Given the description of an element on the screen output the (x, y) to click on. 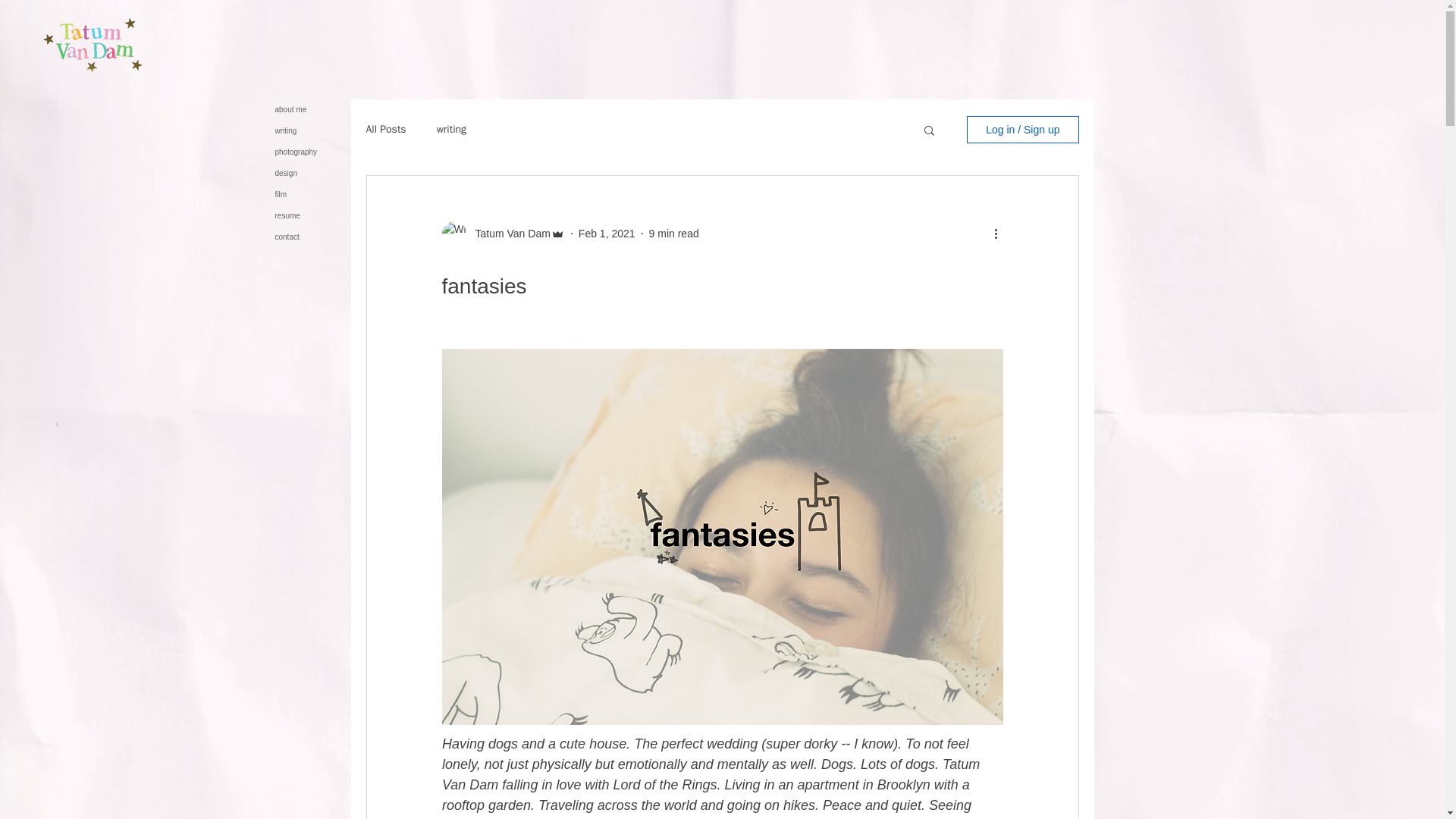
Feb 1, 2021 (606, 233)
photography (312, 151)
writing (312, 130)
9 min read (673, 233)
about me (312, 109)
All Posts (385, 129)
writing (450, 129)
Tatum Van Dam (507, 233)
